Given the description of an element on the screen output the (x, y) to click on. 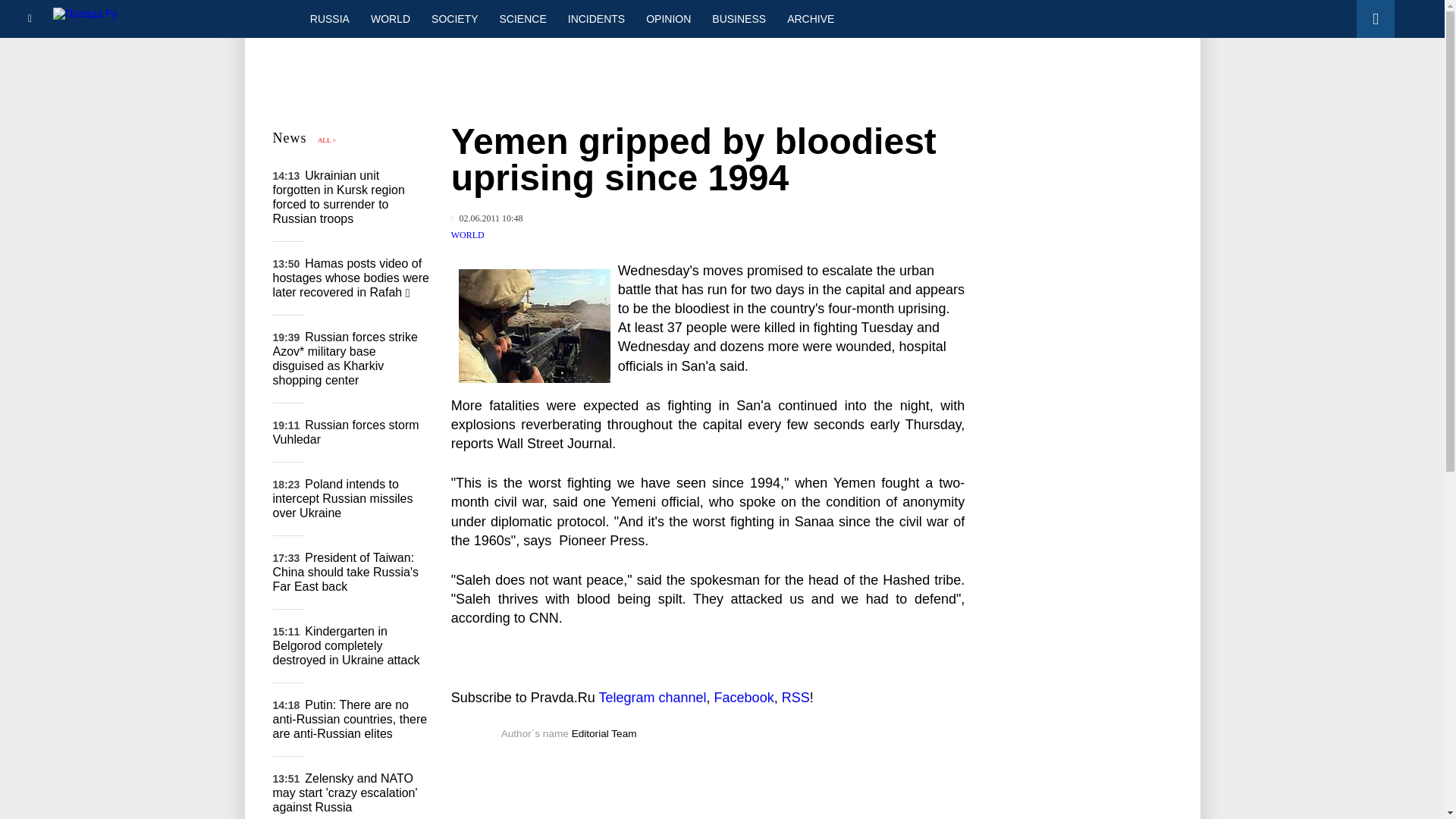
INCIDENTS (595, 18)
BUSINESS (738, 18)
Russian forces storm Vuhledar (346, 431)
Facebook (744, 697)
RUSSIA (329, 18)
